Given the description of an element on the screen output the (x, y) to click on. 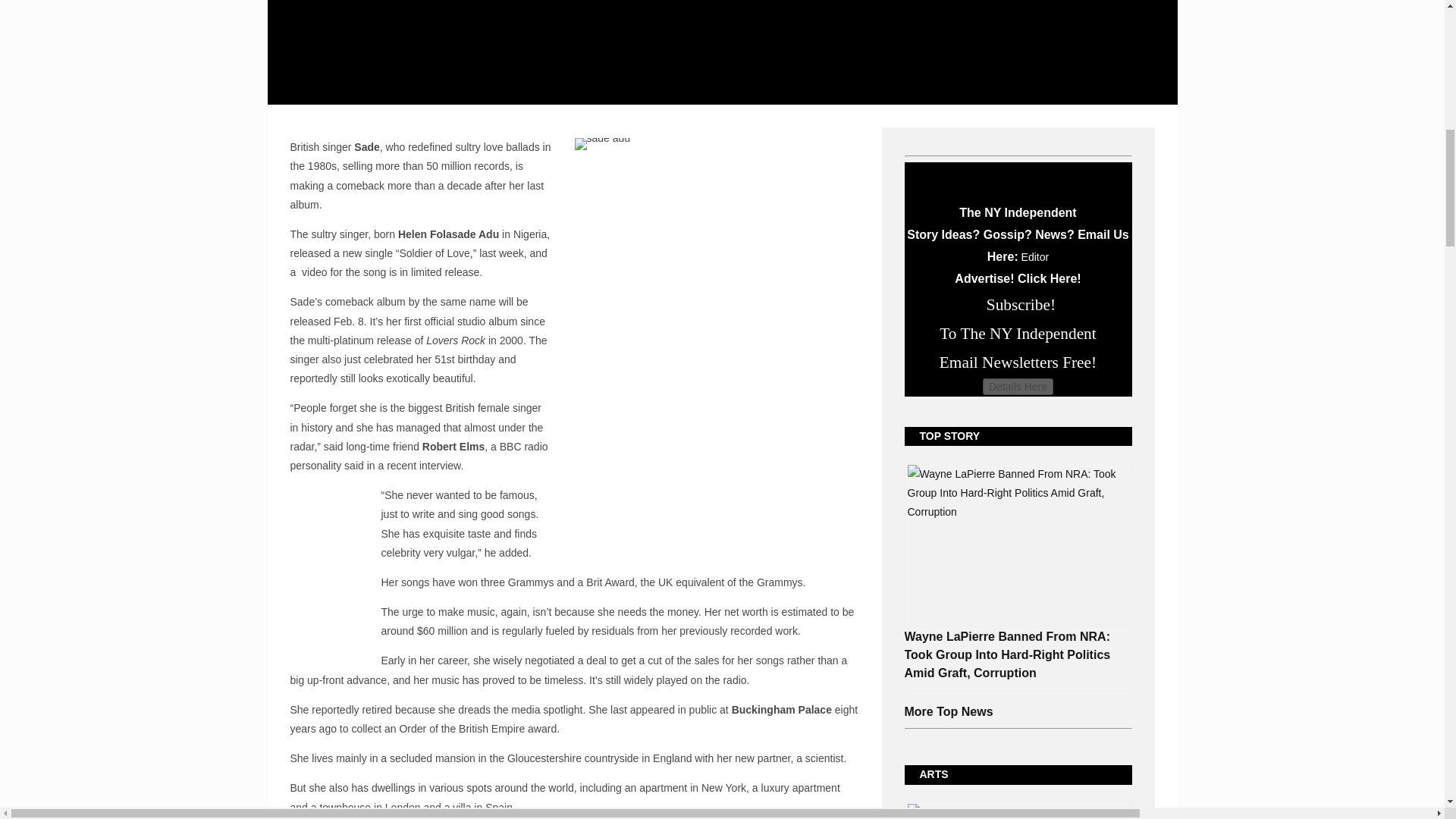
Details Here (1017, 386)
